Given the description of an element on the screen output the (x, y) to click on. 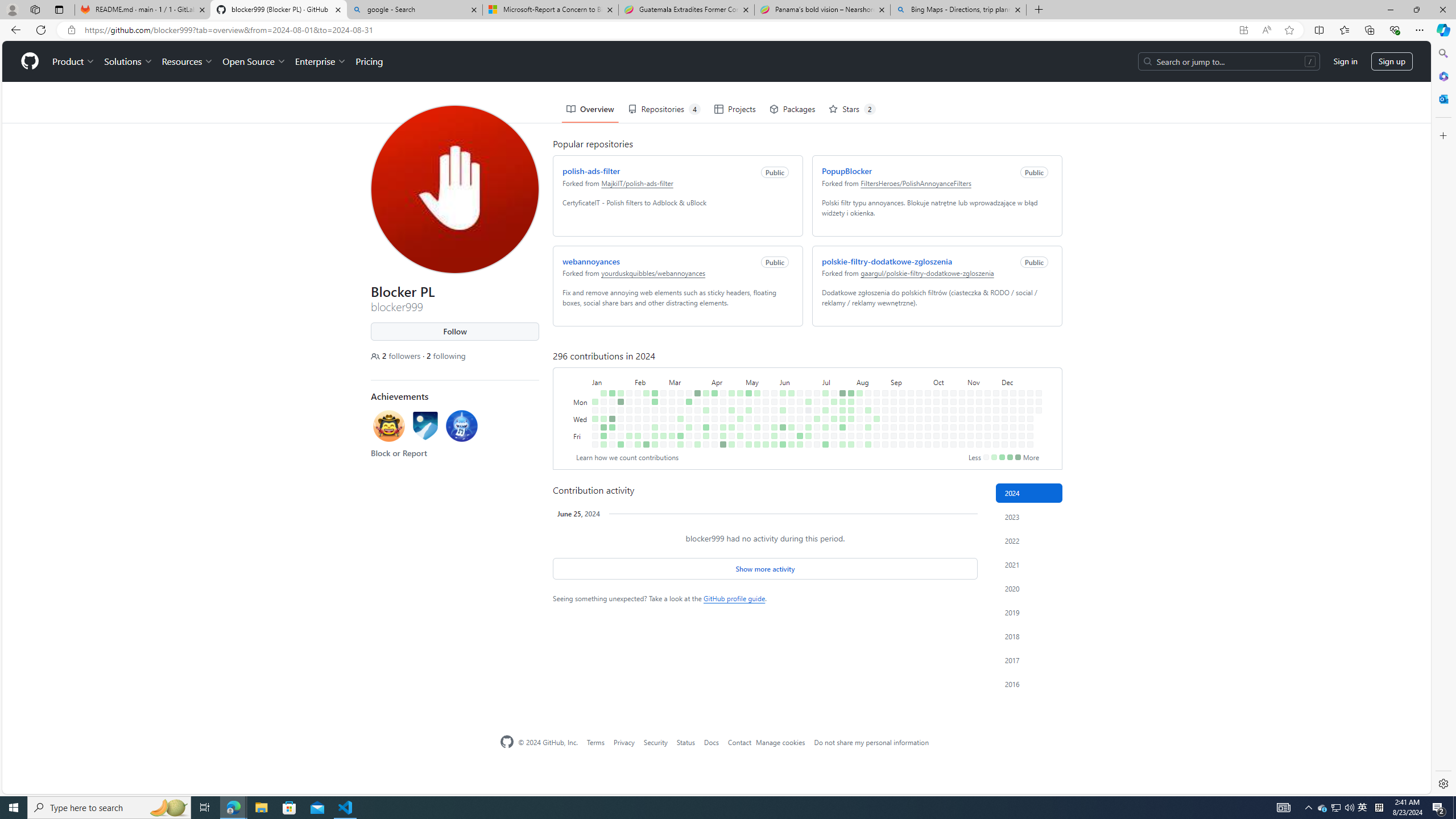
No contributions on November 19th. (985, 369)
1 contribution on January 13th. (603, 444)
No contributions on February 26th. (660, 360)
2 contributions on April 28th. (738, 351)
1 contribution on February 11th. (643, 351)
No contributions on January 29th. (627, 360)
No contributions on May 10th. (746, 394)
No contributions on October 8th. (933, 369)
No contributions on June 12th. (789, 377)
No contributions on August 24th. (876, 444)
No contributions on October 11th. (933, 394)
3 contributions on March 1st. (660, 394)
No contributions on October 6th. (933, 351)
PopupBlocker (844, 129)
No contributions on December 28th. (1029, 444)
